Given the description of an element on the screen output the (x, y) to click on. 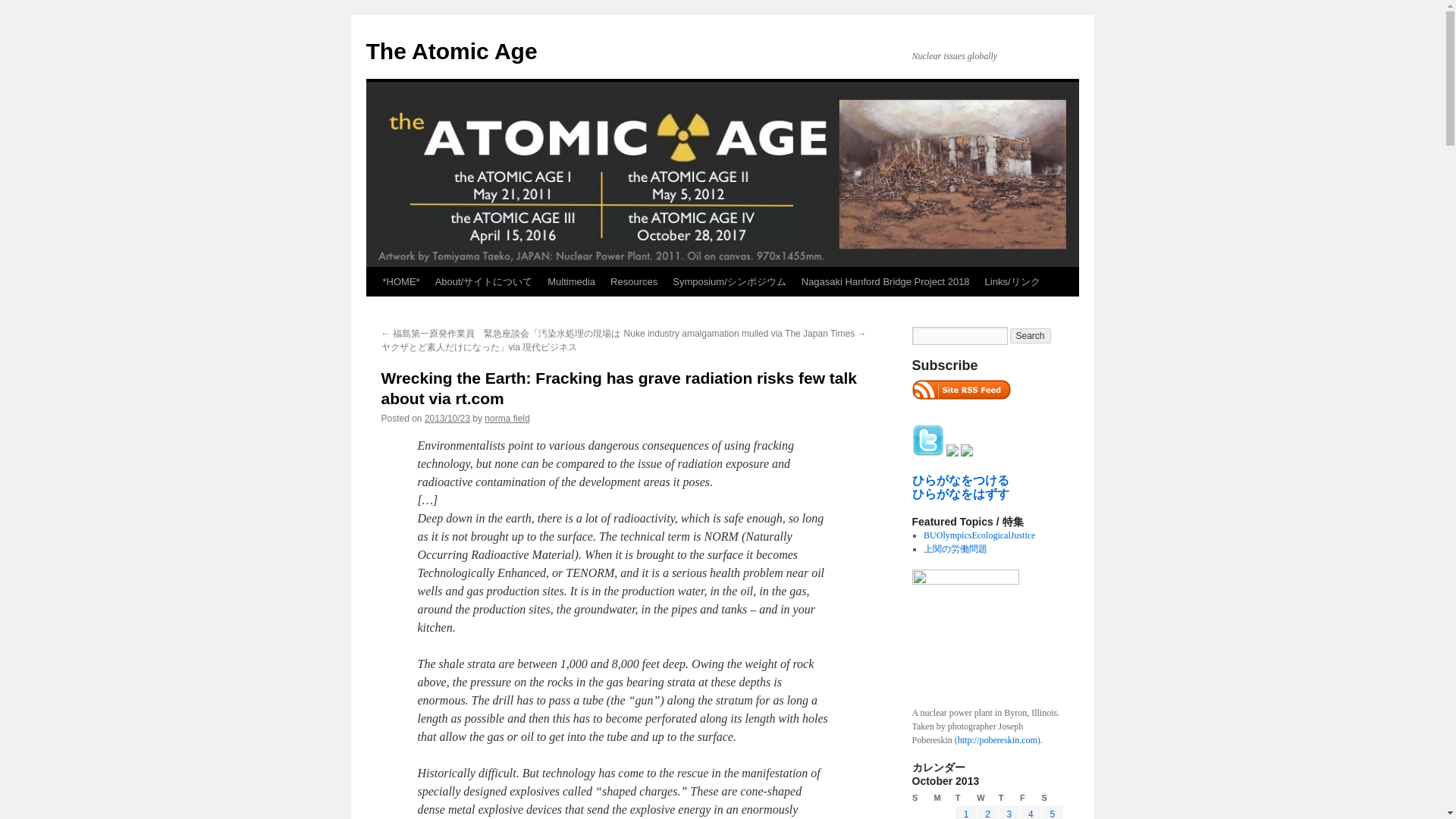
5:49 pm (447, 418)
norma field (506, 418)
TokyoOlympicsEcologicalJustice (979, 534)
Friday (1030, 798)
Thursday (1009, 798)
Multimedia (571, 281)
Saturday (1052, 798)
Wednesday (986, 798)
RSS 2.0 feed for posts (960, 403)
Monday (944, 798)
Tuesday (965, 798)
The Atomic Age (451, 50)
Nagasaki Hanford Bridge Project 2018 (884, 281)
Sunday (922, 798)
 latest posts (960, 389)
